Given the description of an element on the screen output the (x, y) to click on. 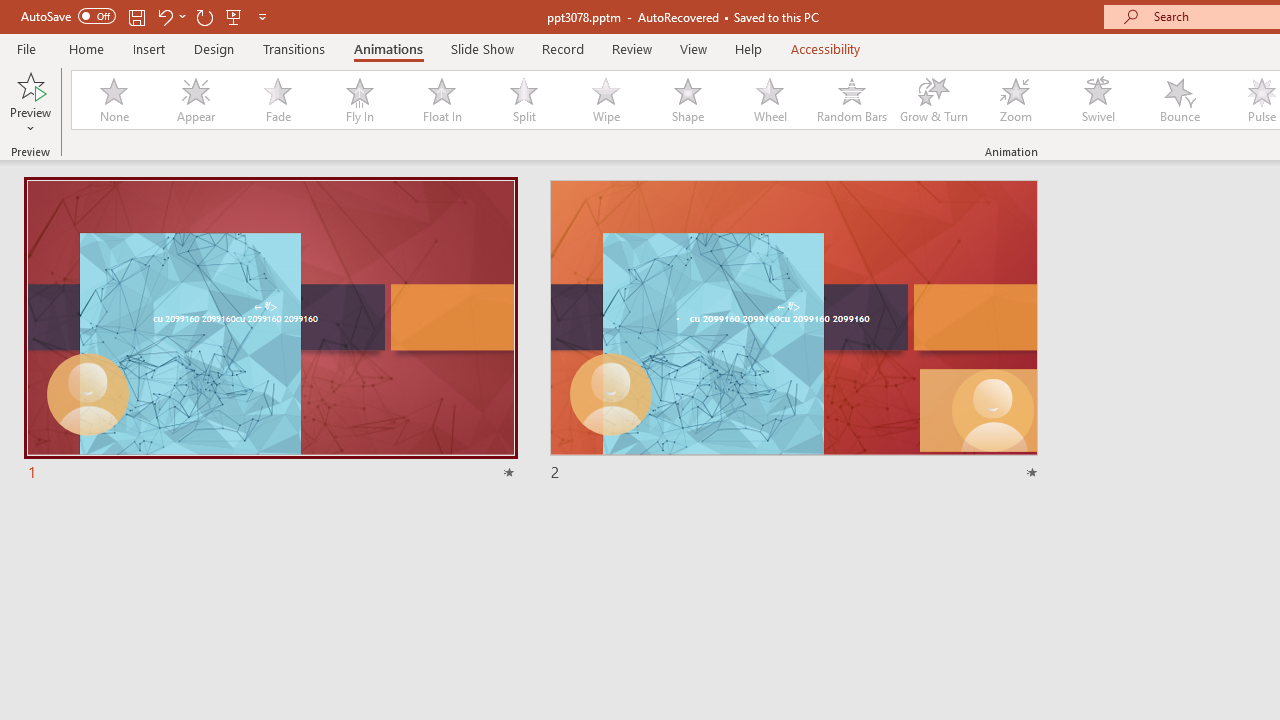
Swivel (1098, 100)
Grow & Turn (934, 100)
Float In (441, 100)
Wipe (605, 100)
Split (523, 100)
Wheel (770, 100)
Random Bars (852, 100)
None (113, 100)
Appear (195, 100)
